Given the description of an element on the screen output the (x, y) to click on. 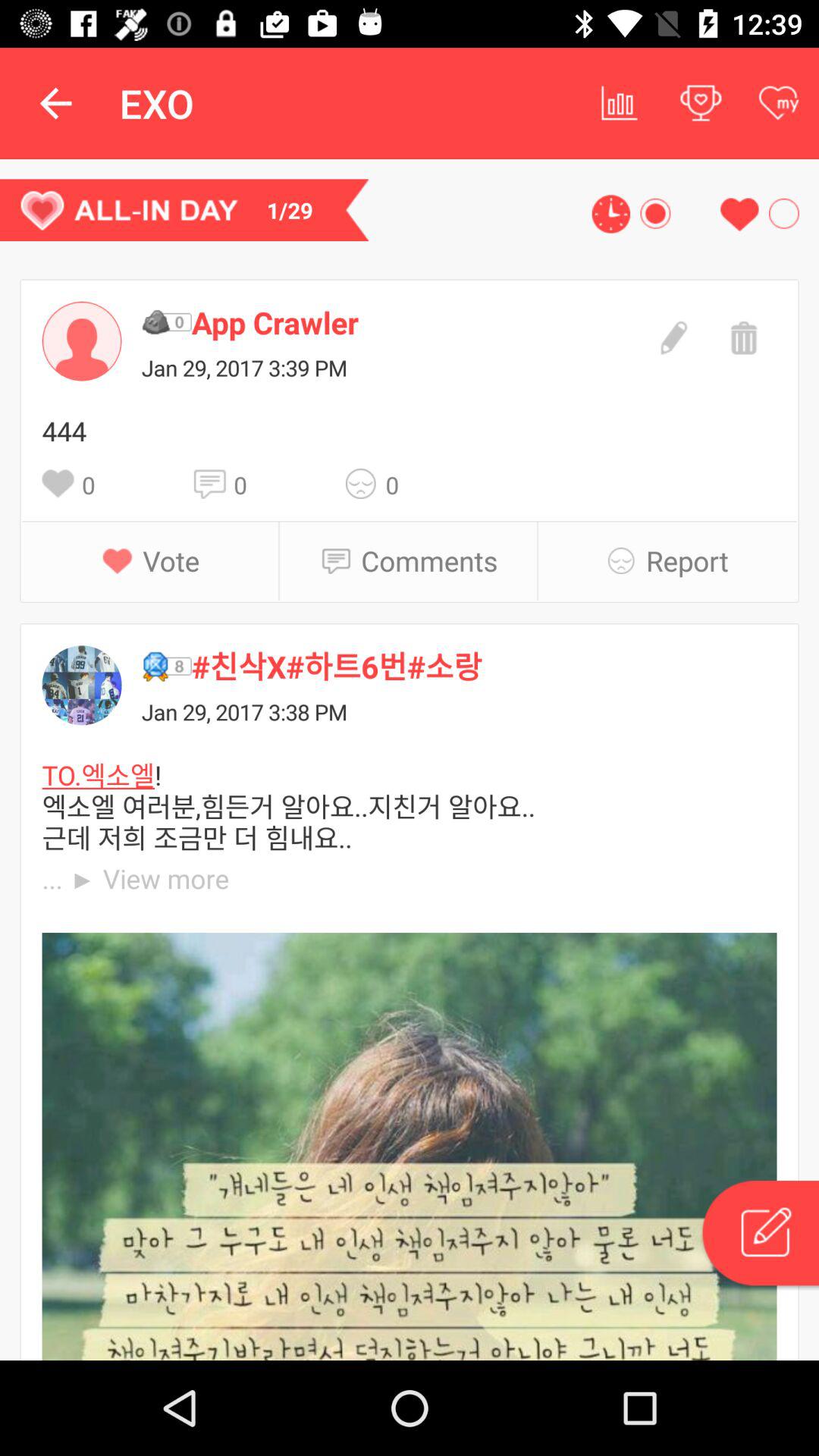
turn on item next to exo app (55, 103)
